Given the description of an element on the screen output the (x, y) to click on. 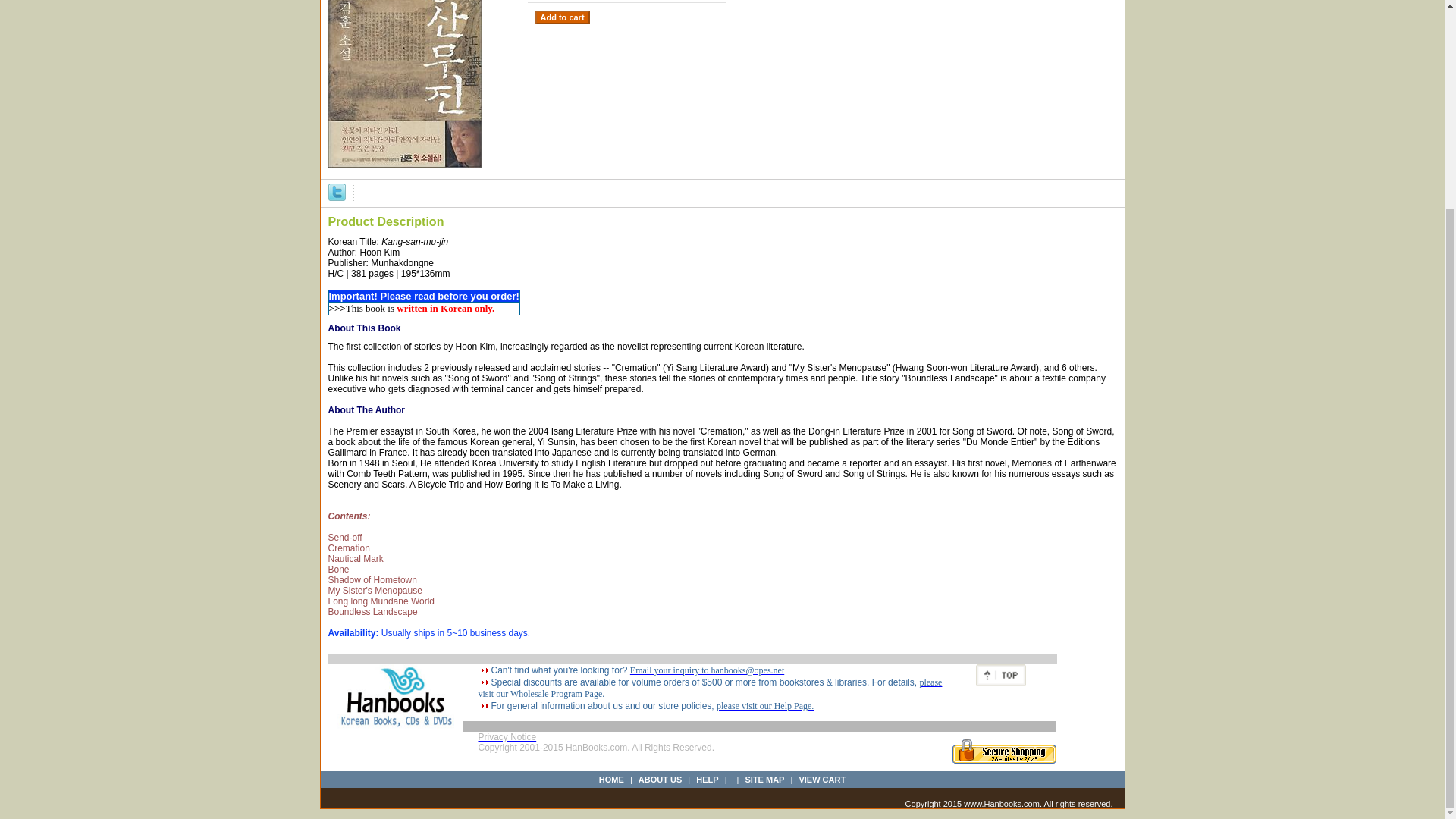
SITE MAP (765, 778)
please visit our Wholesale Program Page. (709, 688)
Copyright 2001-2015 HanBooks.com. All Rights Reserved. (595, 752)
Add to cart (562, 17)
Add to cart (562, 17)
please visit our Help Page. (764, 706)
Boundless Landscape (404, 87)
Privacy Notice (506, 737)
VIEW CART (821, 778)
HELP (707, 778)
